Given the description of an element on the screen output the (x, y) to click on. 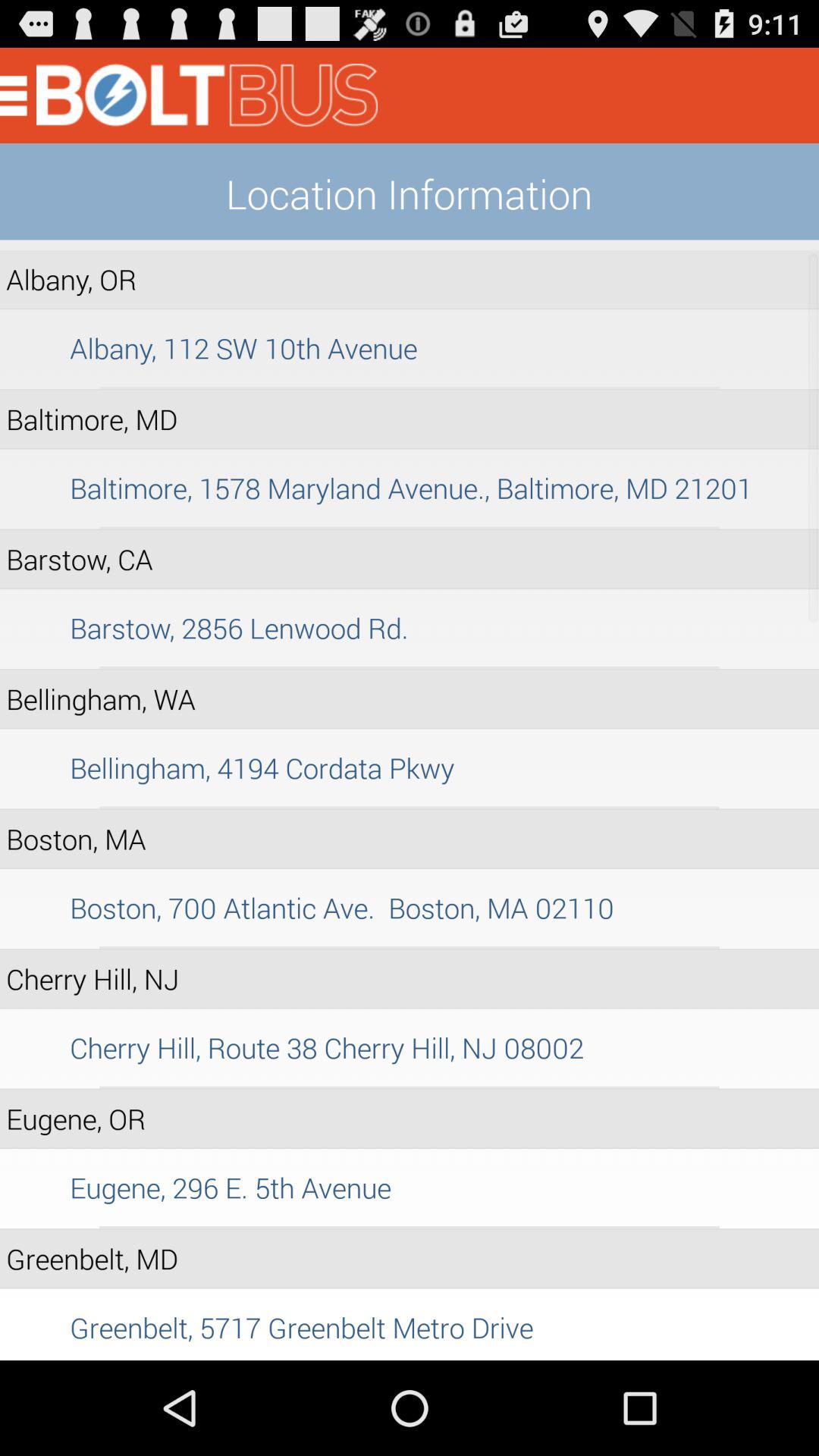
turn on the icon below bellingham 4194 cordata item (409, 807)
